Given the description of an element on the screen output the (x, y) to click on. 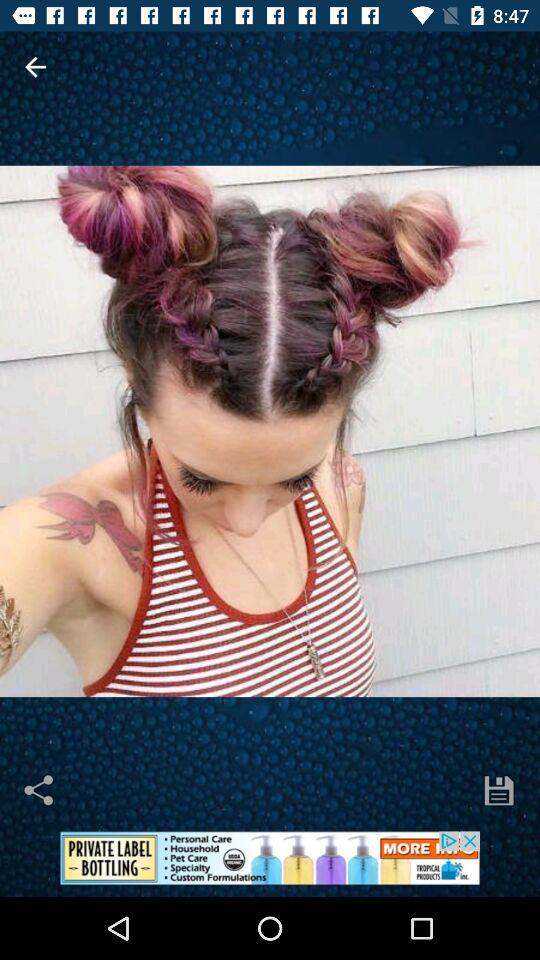
tap to share (40, 790)
